Given the description of an element on the screen output the (x, y) to click on. 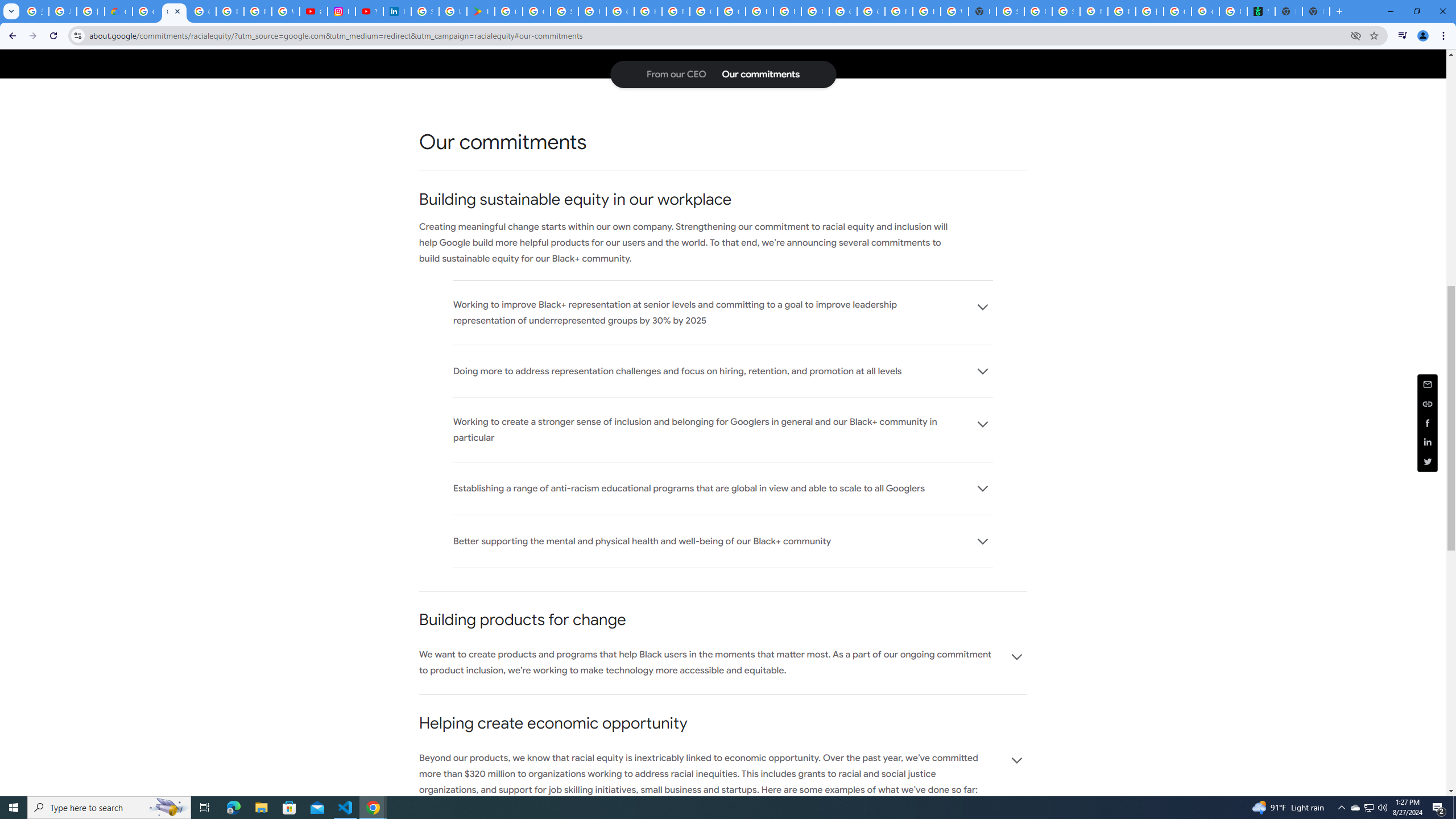
Share this page (Twitter) (1427, 461)
Privacy Help Center - Policies Help (257, 11)
New Tab (1316, 11)
